Given the description of an element on the screen output the (x, y) to click on. 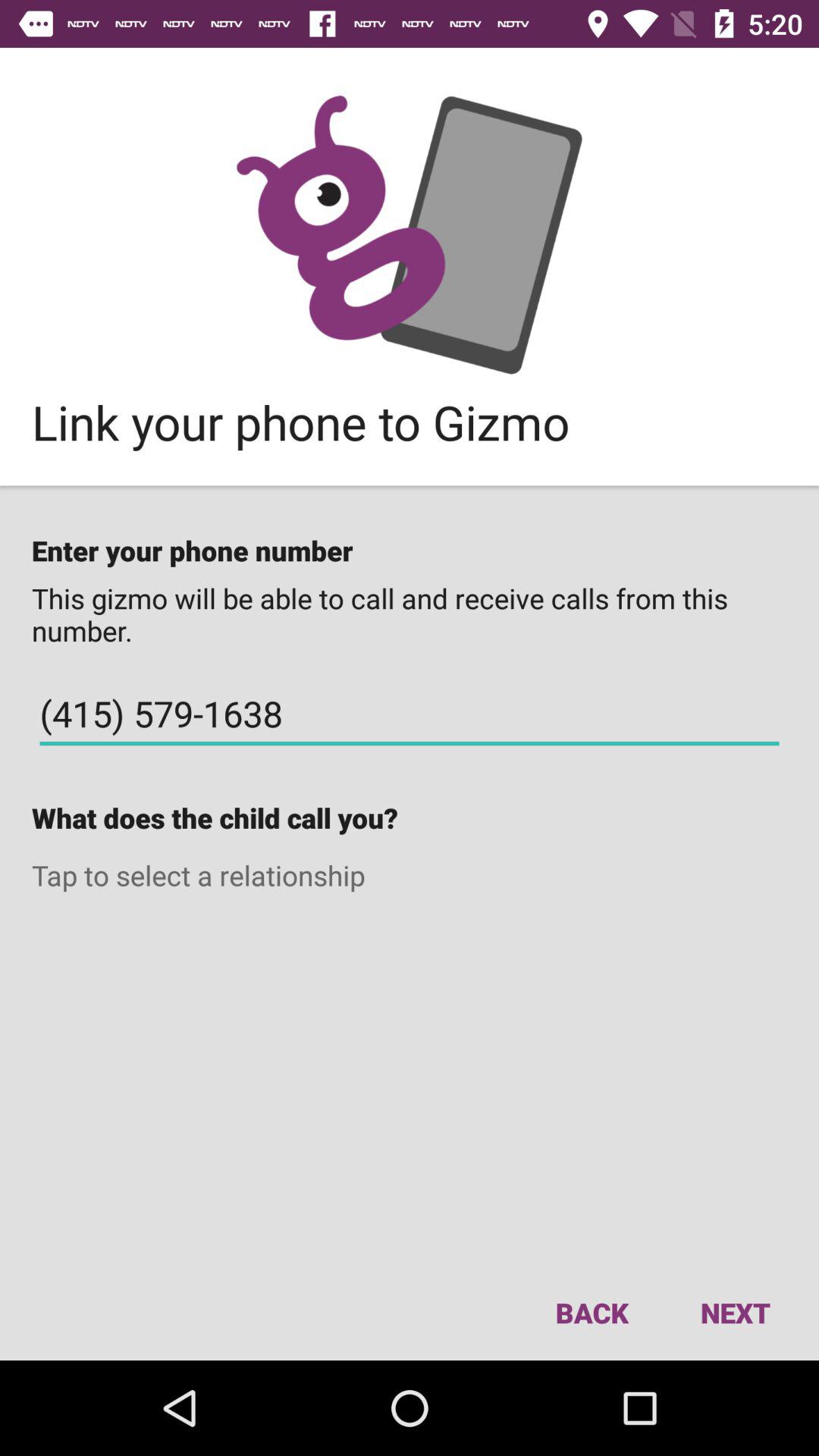
launch the item to the left of next (591, 1312)
